Given the description of an element on the screen output the (x, y) to click on. 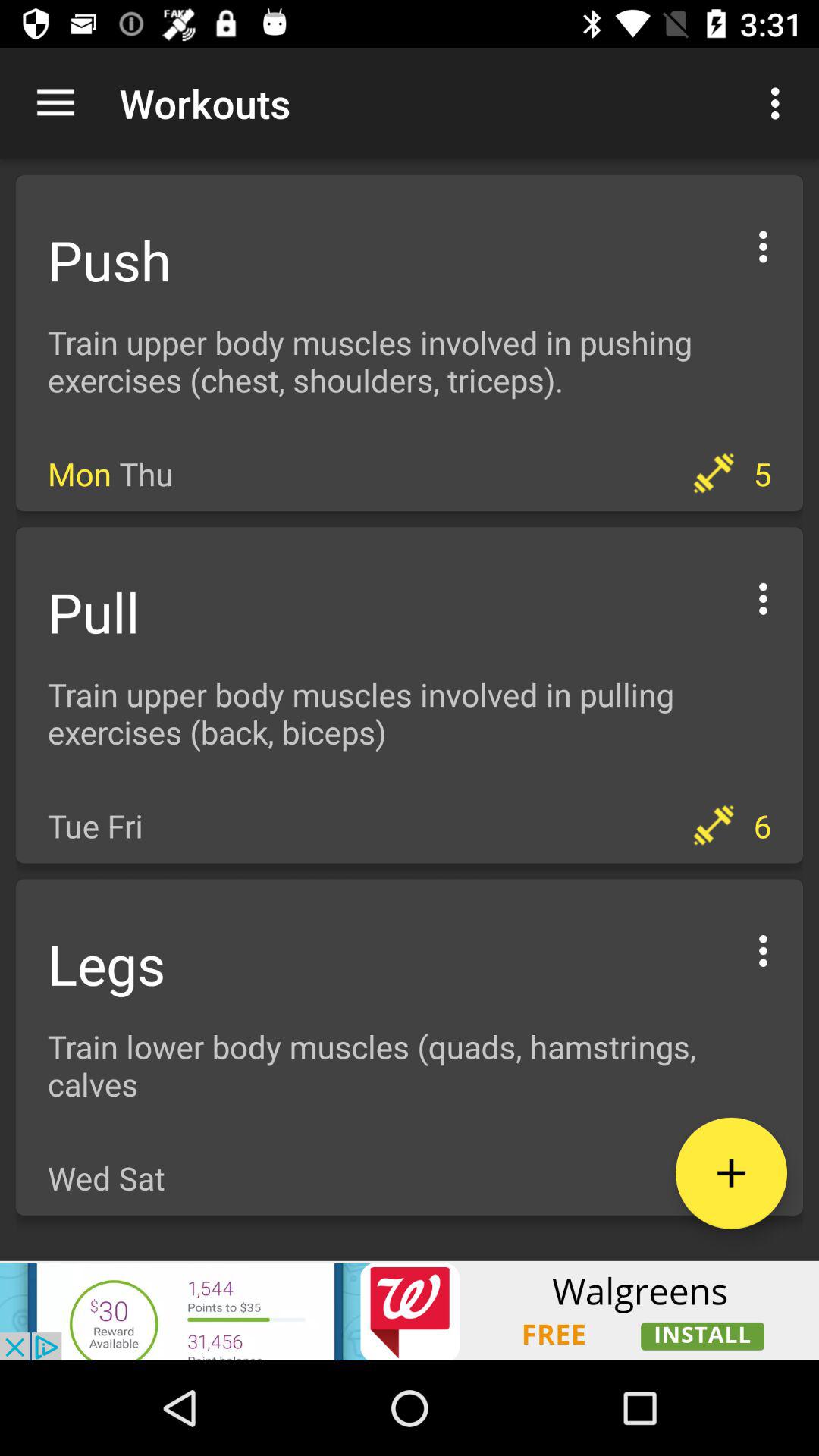
menu options (763, 596)
